Given the description of an element on the screen output the (x, y) to click on. 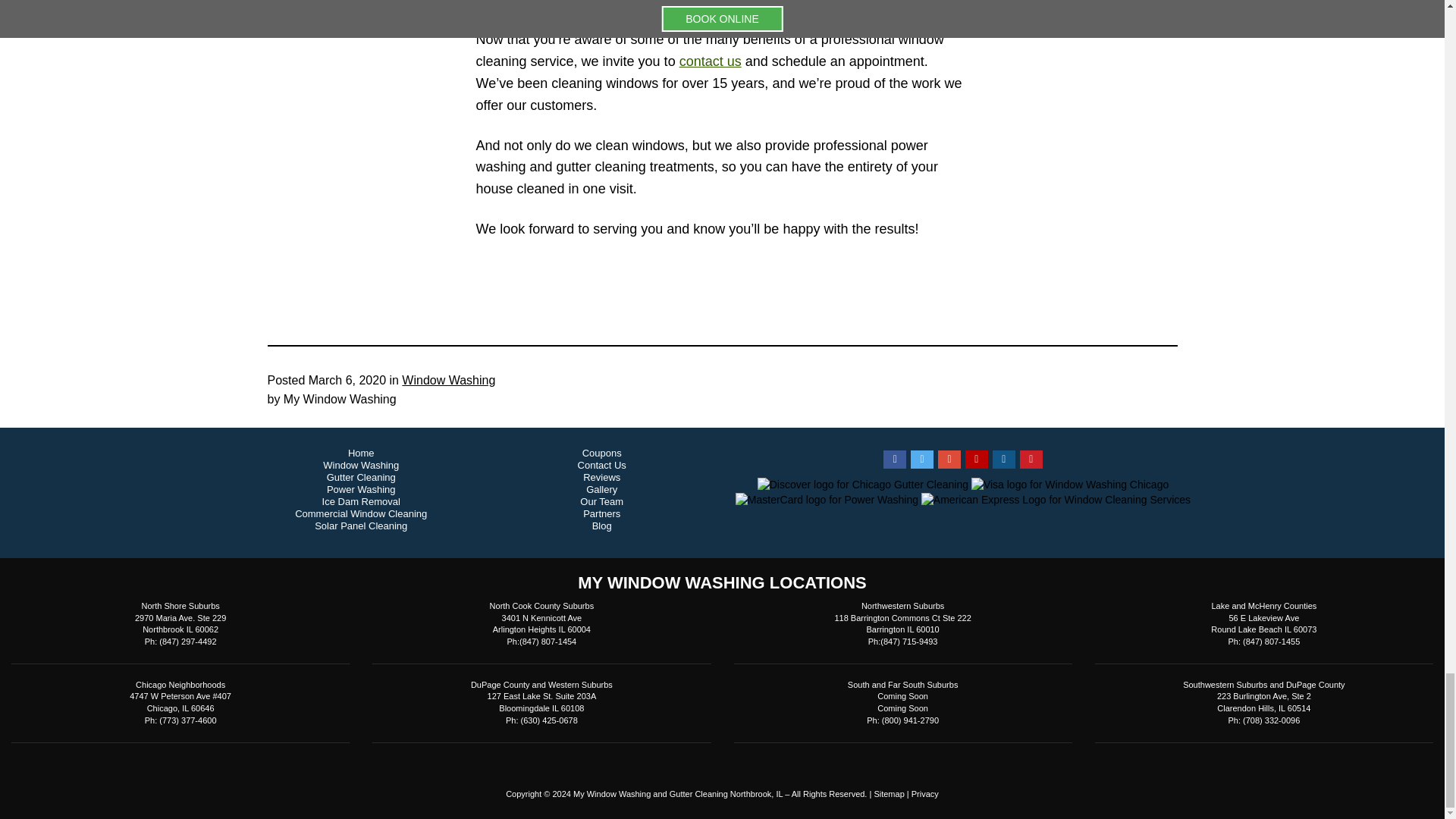
Contact Us (602, 465)
Window Washing (360, 465)
Reviews (601, 477)
Gallery (601, 489)
North Cook County Suburbs (541, 606)
Coupons (601, 452)
Commercial Window Cleaning (360, 513)
Ice Dam Removal (360, 501)
Our Team (601, 501)
North Shore Suburbs (180, 606)
Tag Images on Pinterest (1031, 459)
My Window Washing on Google Maps (948, 459)
contact us (710, 61)
Solar Panel Cleaning (360, 525)
Blog (601, 525)
